Given the description of an element on the screen output the (x, y) to click on. 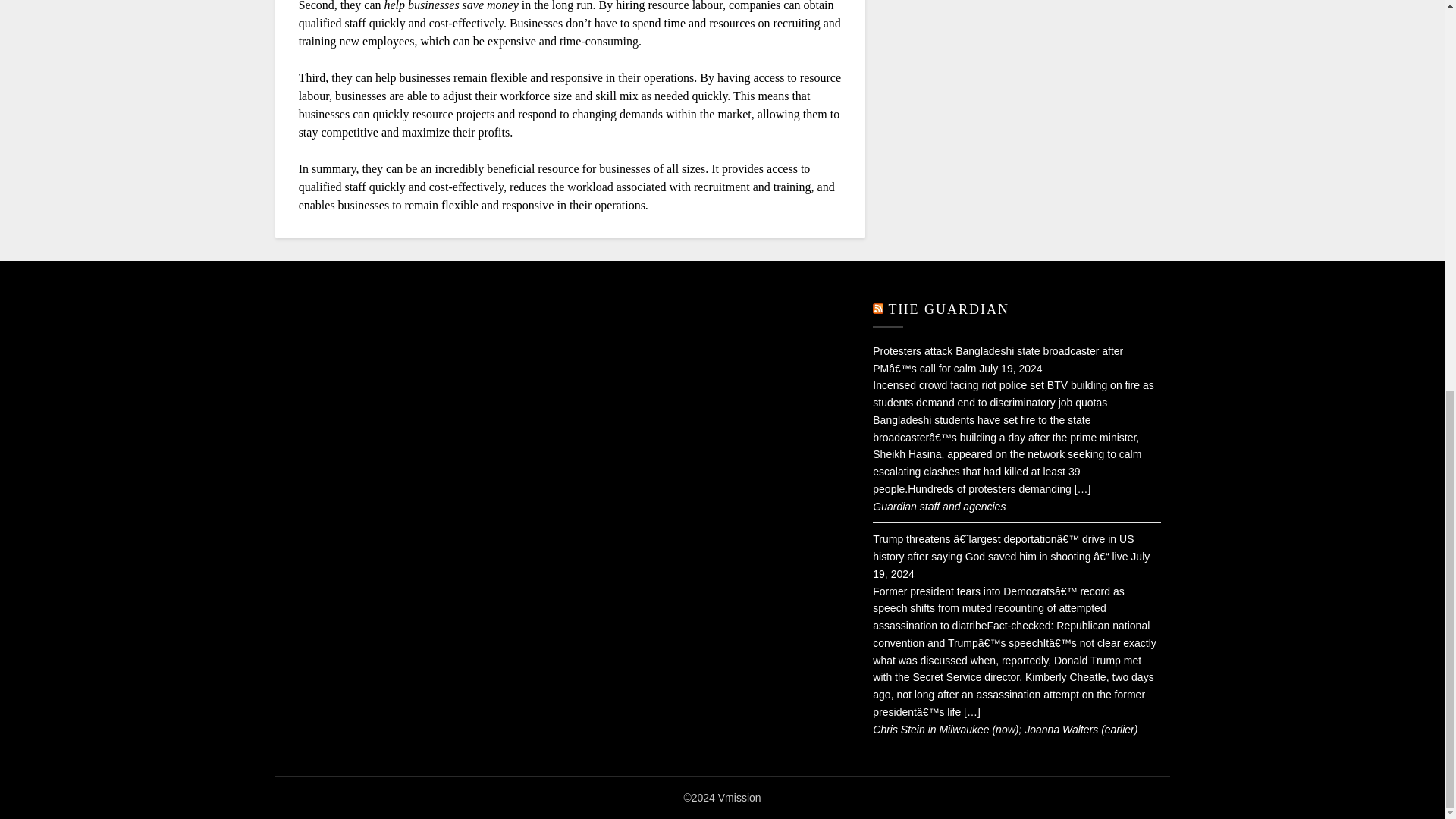
THE GUARDIAN (948, 309)
